Given the description of an element on the screen output the (x, y) to click on. 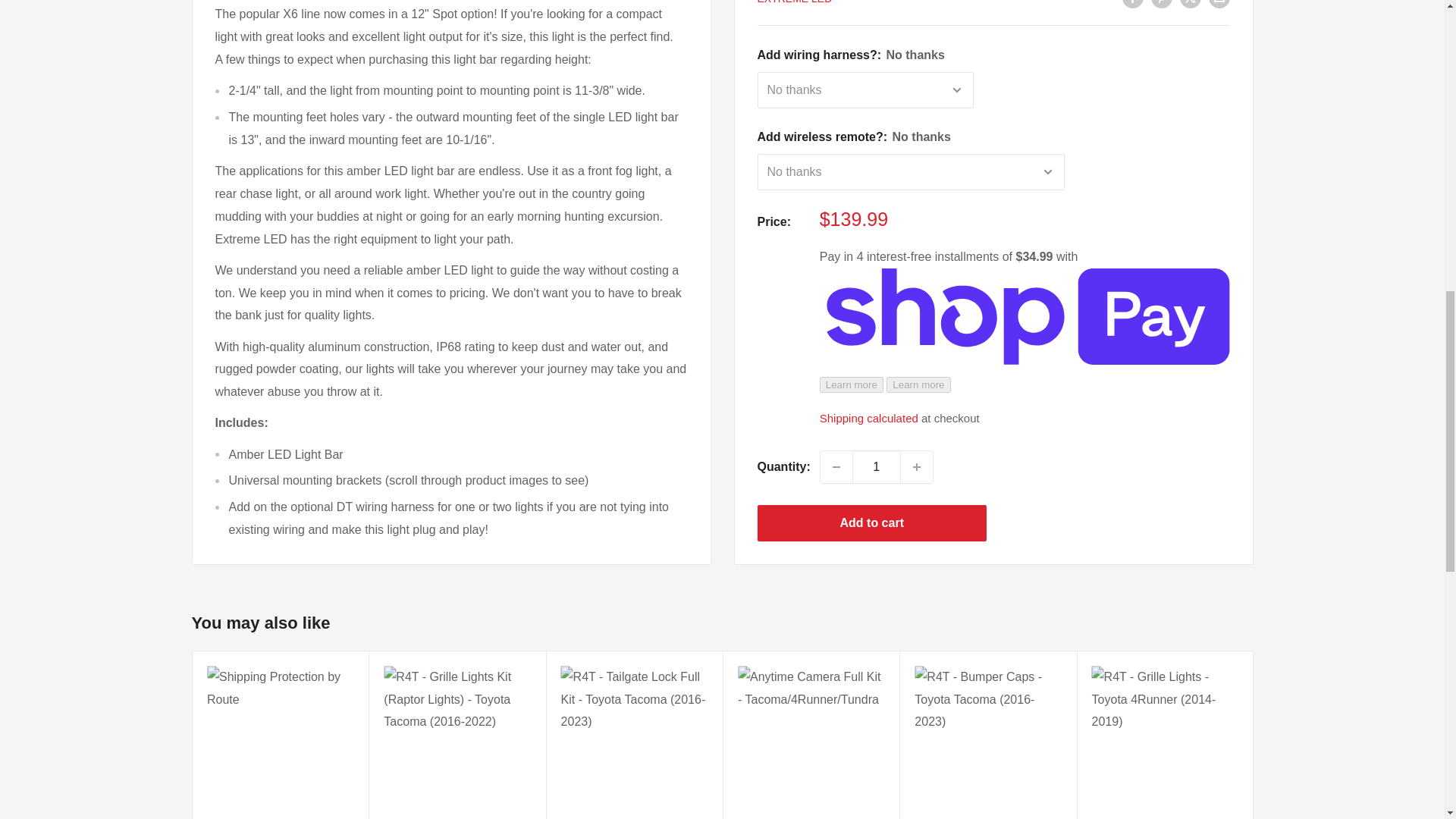
Increase quantity by 1 (917, 70)
1 (876, 70)
Decrease quantity by 1 (836, 70)
